Given the description of an element on the screen output the (x, y) to click on. 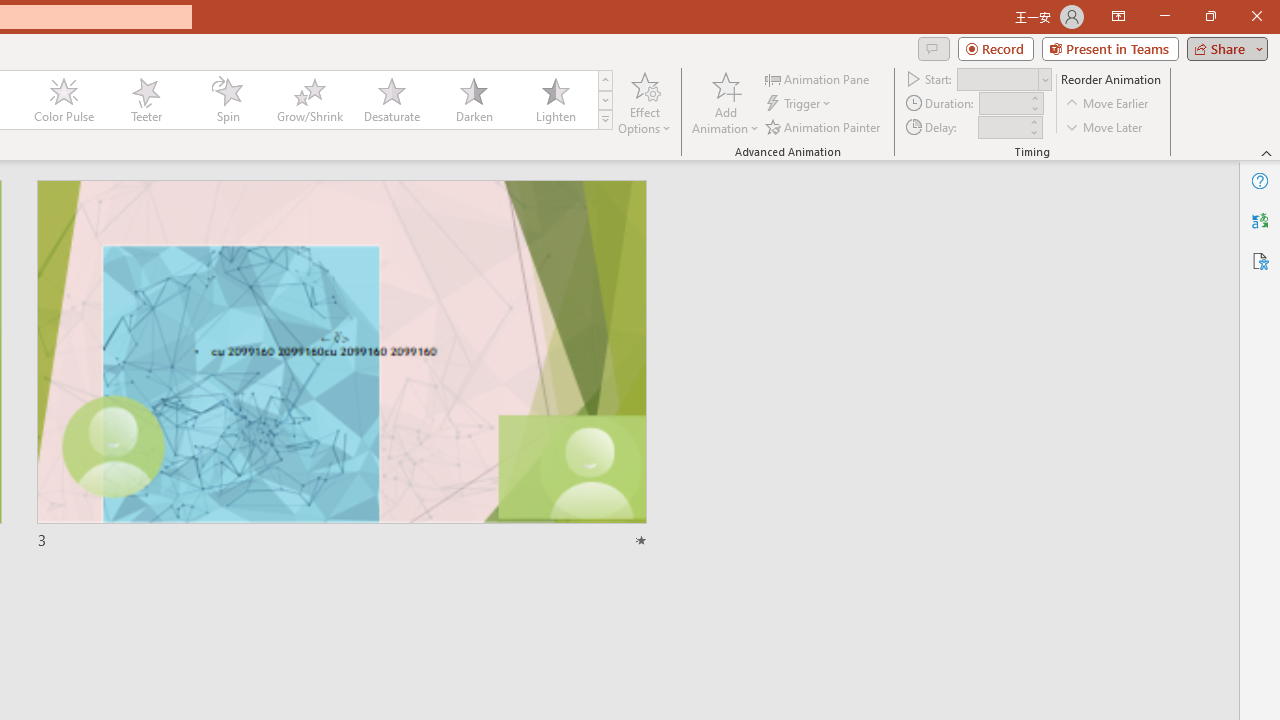
Animation Styles (605, 120)
Add Animation (725, 102)
Animation Painter (824, 126)
Less (1033, 132)
Color Pulse (63, 100)
Desaturate (391, 100)
Trigger (799, 103)
More (1033, 121)
Open (1044, 79)
